Given the description of an element on the screen output the (x, y) to click on. 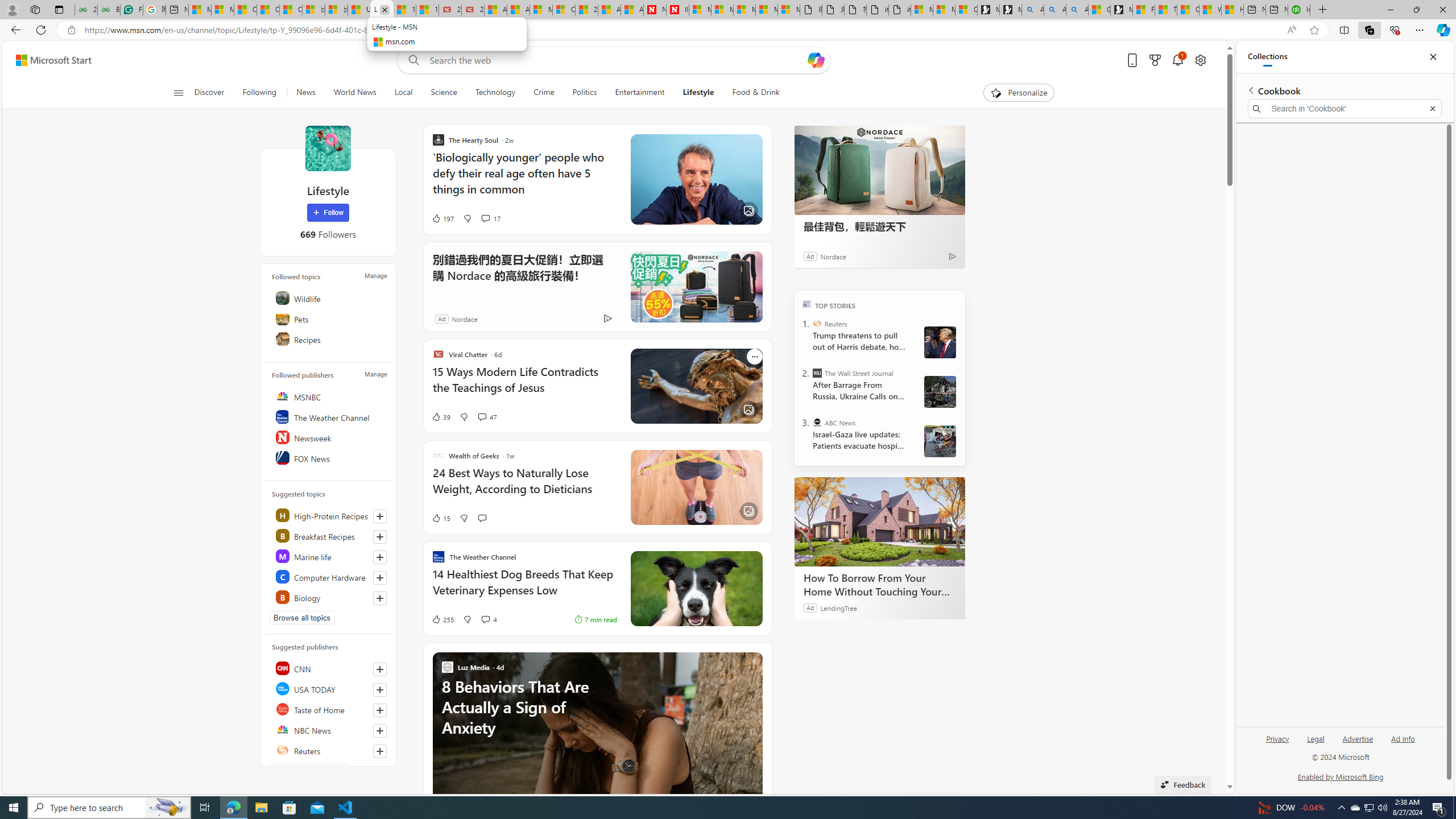
Add this page to favorites (Ctrl+D) (1314, 29)
39 Like (440, 416)
Science (442, 92)
Microsoft account | Privacy (943, 9)
Read aloud this page (Ctrl+Shift+U) (1291, 29)
See more (753, 660)
Microsoft Start (199, 9)
World News (354, 92)
Enter your search term (617, 59)
Best SSL Certificates Provider in India - GeeksforGeeks (109, 9)
Follow this topic (379, 598)
Alabama high school quarterback dies - Search Videos (1077, 9)
Browse all topics (301, 617)
